Given the description of an element on the screen output the (x, y) to click on. 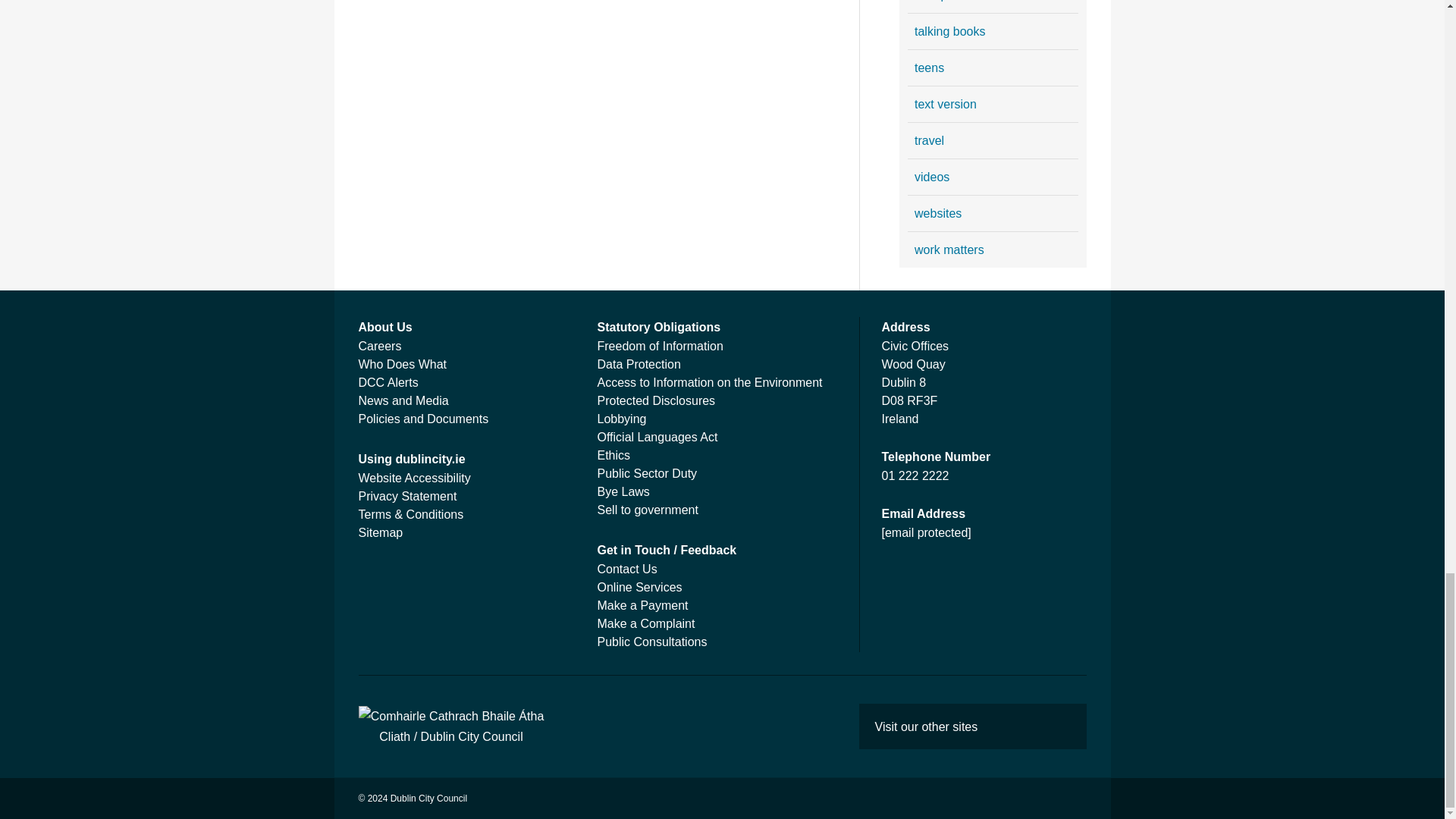
Make a Service Request (639, 586)
Make a Payment (642, 604)
Home (450, 725)
